Given the description of an element on the screen output the (x, y) to click on. 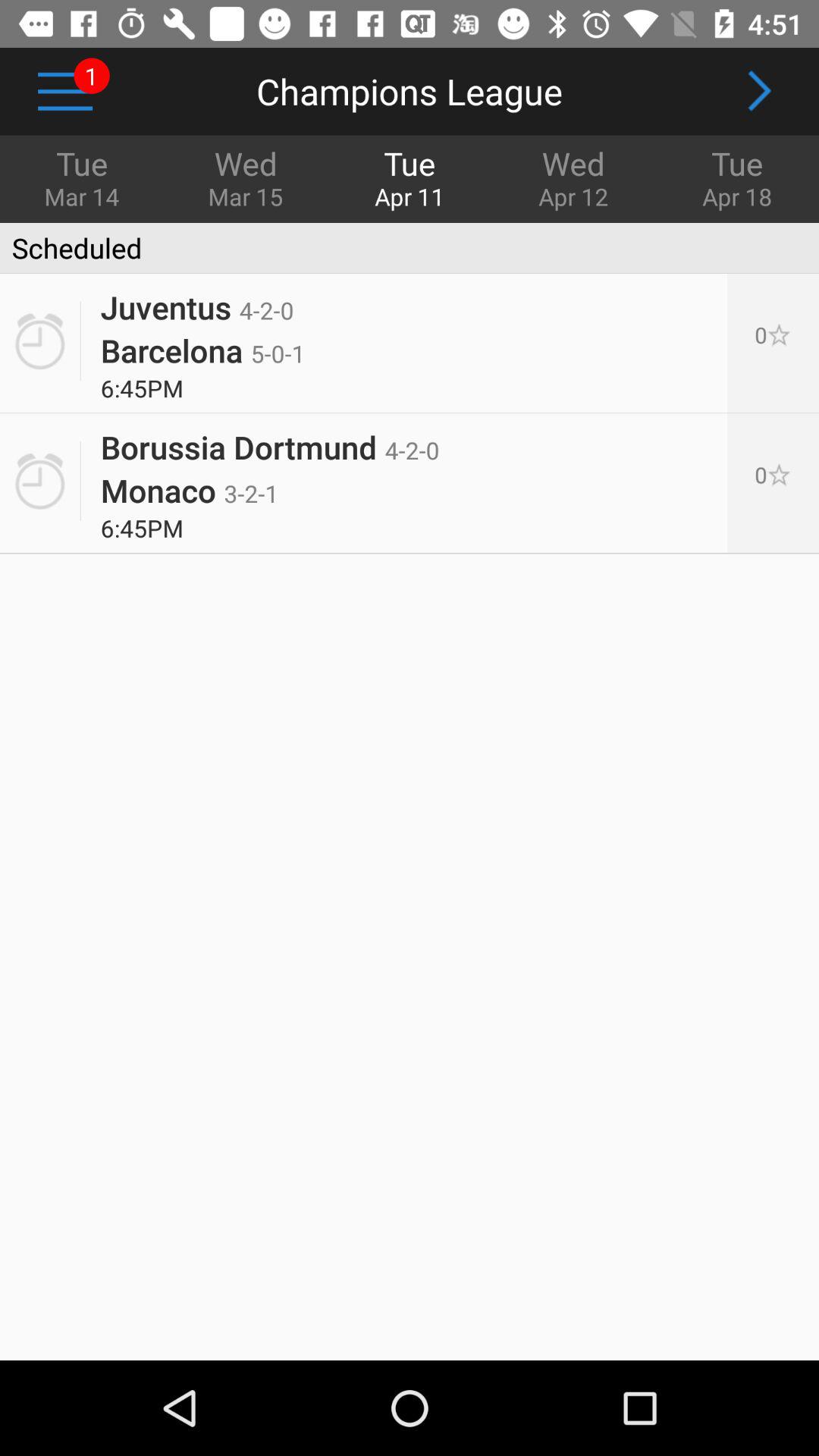
select item below borussia dortmund 4 item (189, 489)
